Given the description of an element on the screen output the (x, y) to click on. 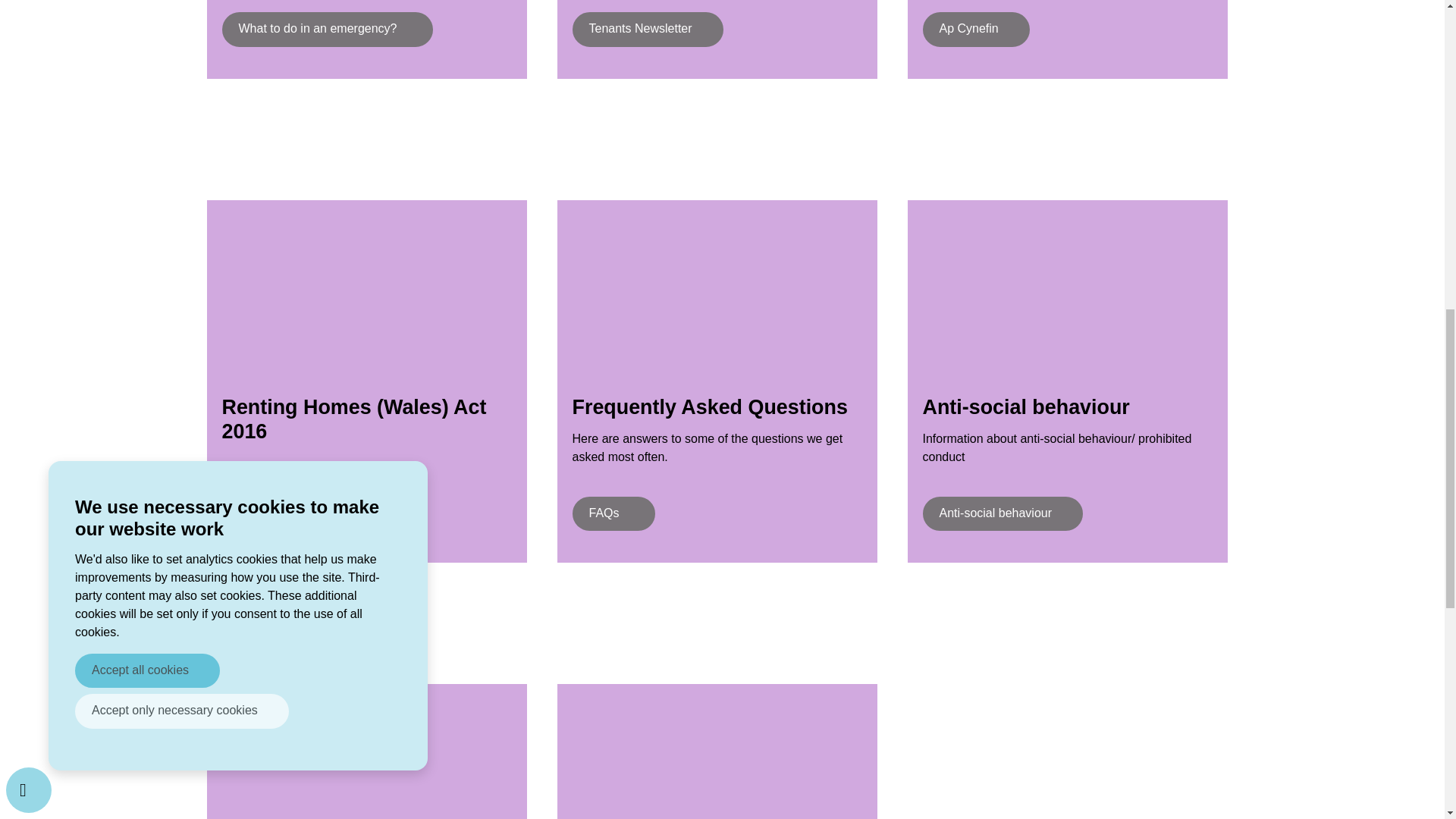
Ap Cynefin (975, 29)
Renting Home Wales Act (314, 513)
Tenants Newsletter (647, 29)
Anti-social behaviour (1002, 513)
FAQs (612, 513)
What to do in an emergency? (326, 29)
